Given the description of an element on the screen output the (x, y) to click on. 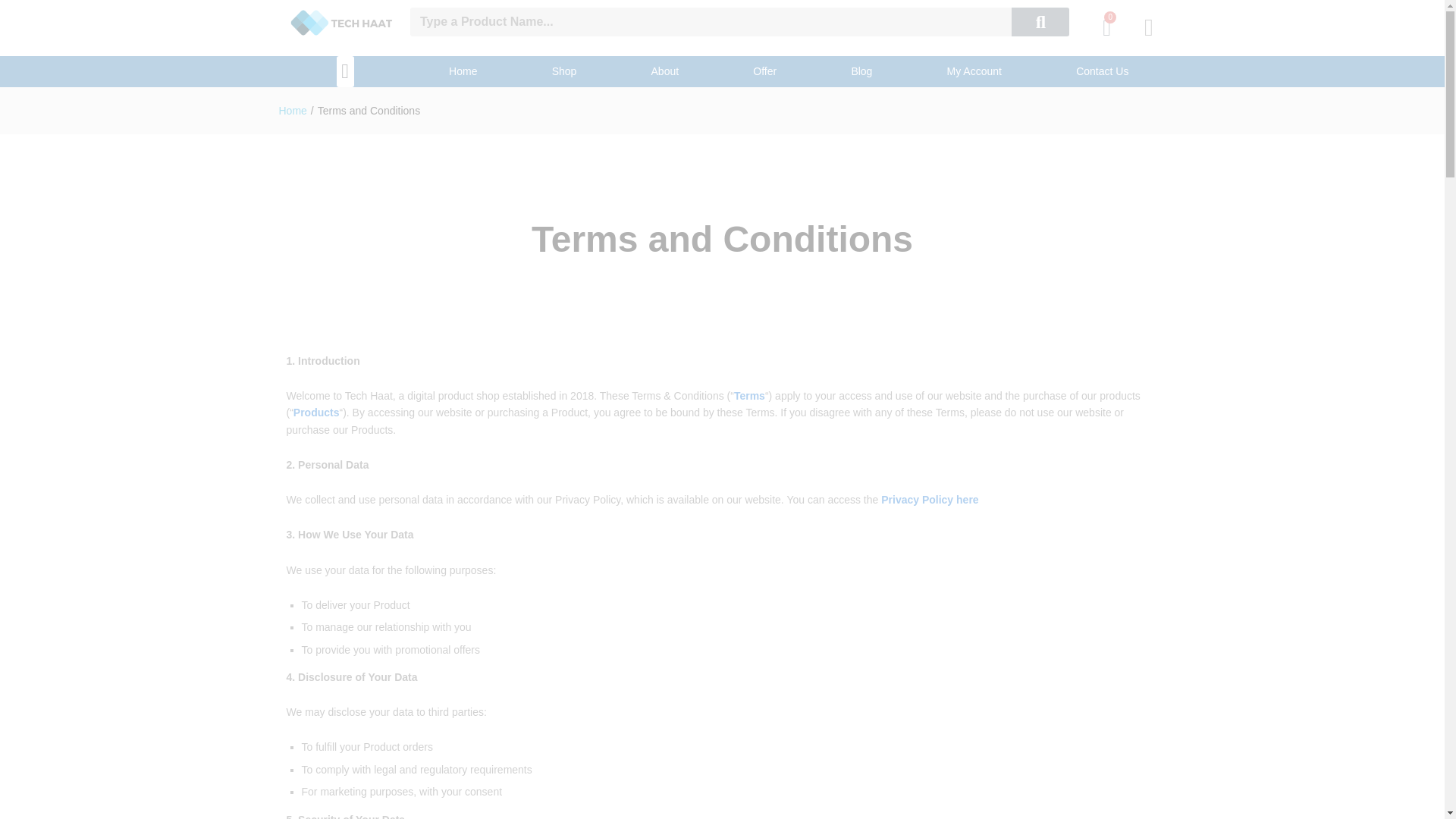
0 (1106, 27)
Blog (860, 70)
My Account (974, 70)
Home (463, 70)
Offer (764, 70)
Contact Us (1102, 70)
About (664, 70)
Shop (564, 70)
